Given the description of an element on the screen output the (x, y) to click on. 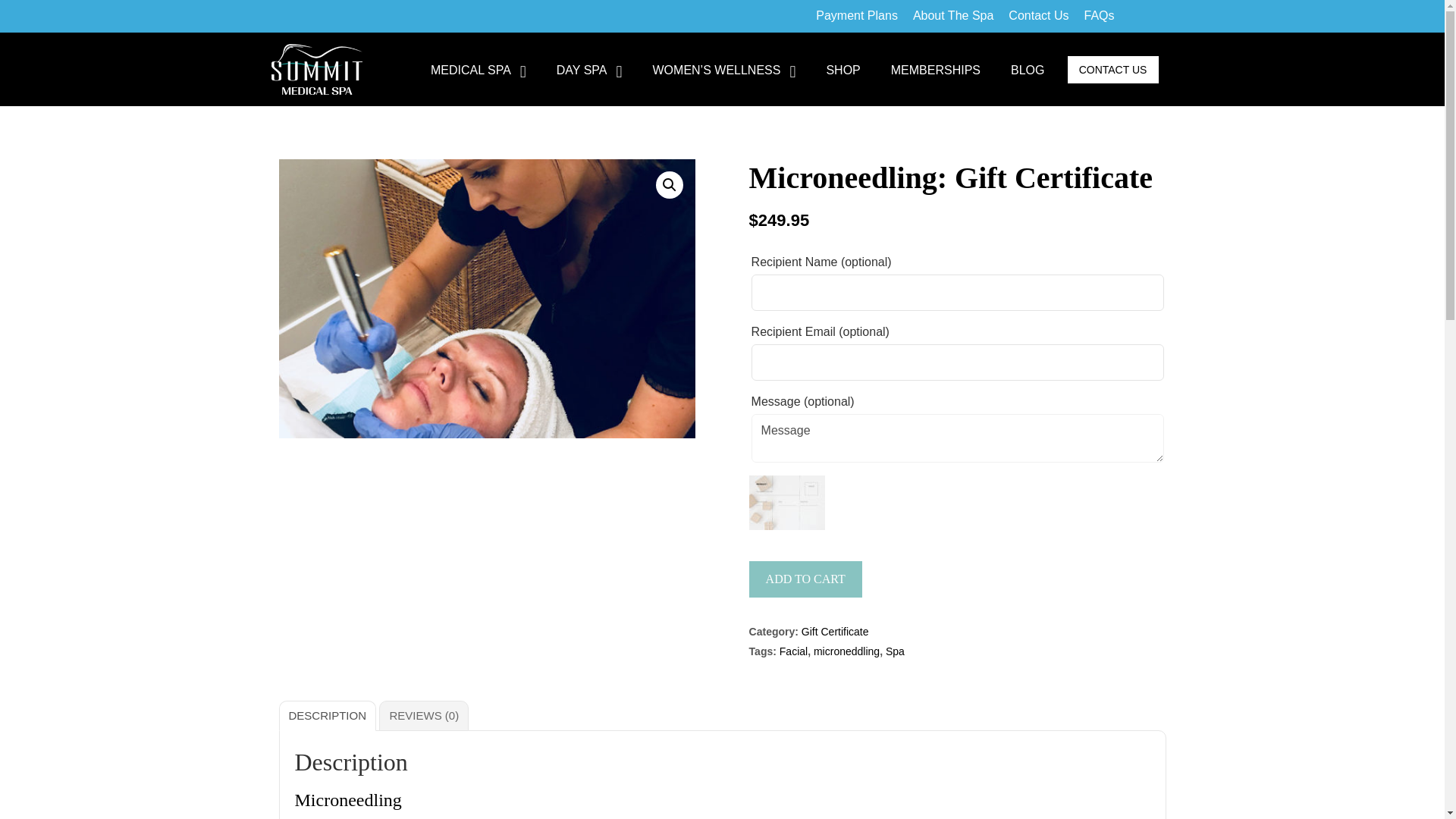
MEDICAL SPA (477, 69)
Payment Plans (856, 15)
microneedling-summit-spa (487, 298)
FAQs (1098, 15)
About The Spa (953, 15)
Contact Us (1038, 15)
Voucher Image (787, 502)
DAY SPA (589, 69)
